Given the description of an element on the screen output the (x, y) to click on. 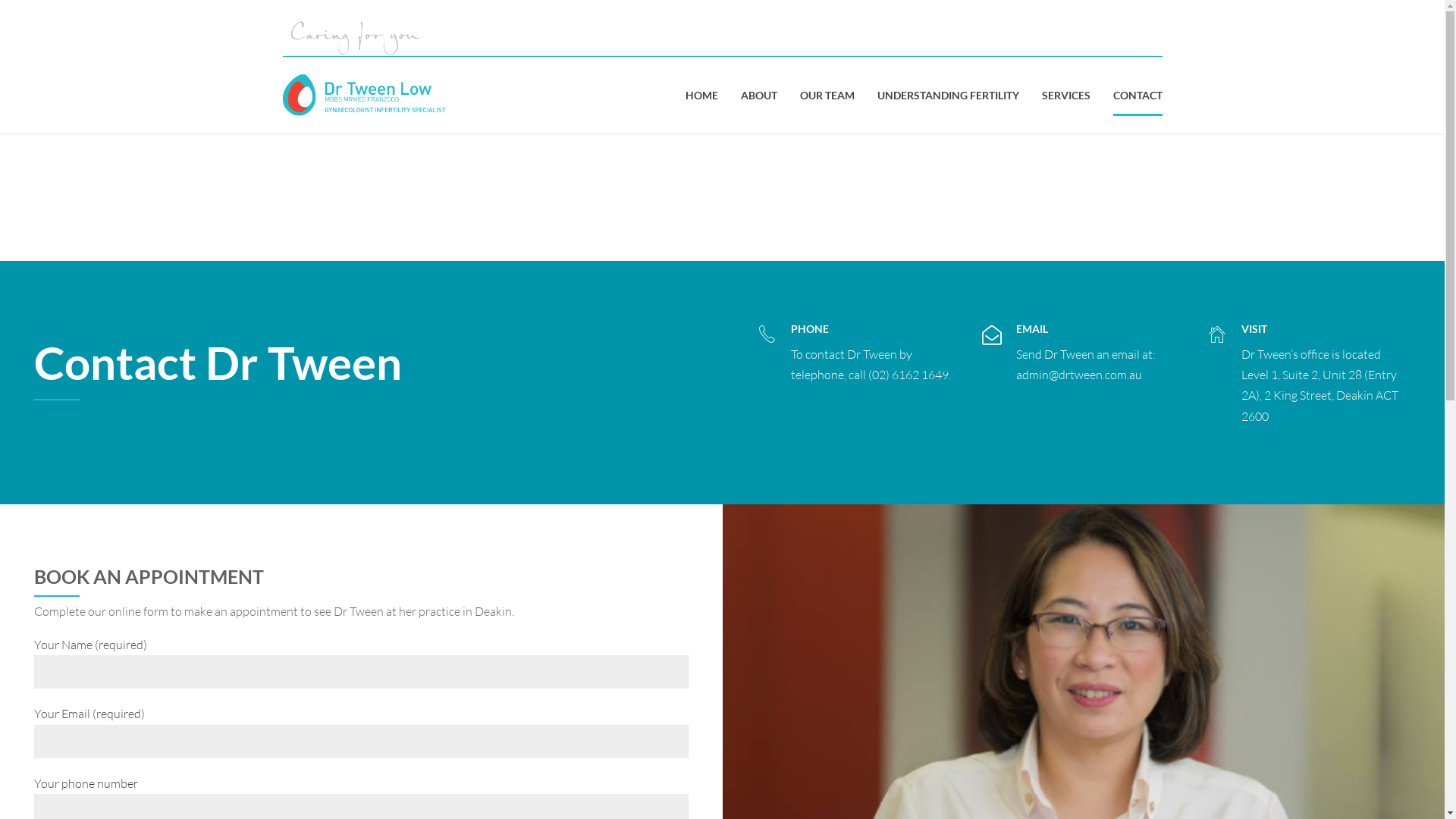
ABOUT Element type: text (758, 95)
SERVICES Element type: text (1065, 95)
OUR TEAM Element type: text (826, 95)
HOME Element type: text (701, 95)
UNDERSTANDING FERTILITY Element type: text (947, 95)
CONTACT Element type: text (1137, 95)
